Given the description of an element on the screen output the (x, y) to click on. 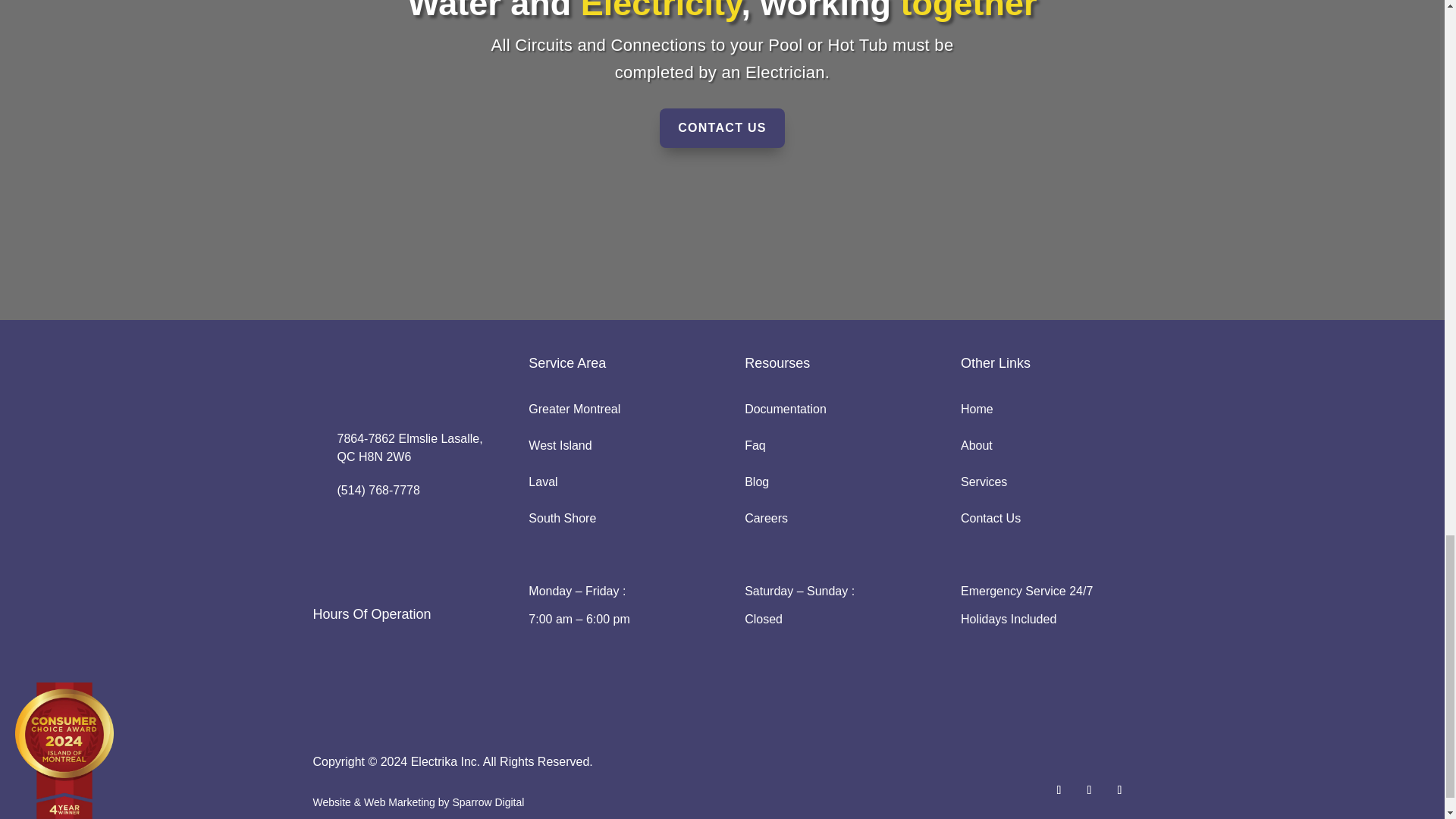
Follow on LinkedIn (1118, 790)
fit-product-RGB (388, 695)
Follow on Youtube (1088, 790)
Follow on Facebook (1058, 790)
